Given the description of an element on the screen output the (x, y) to click on. 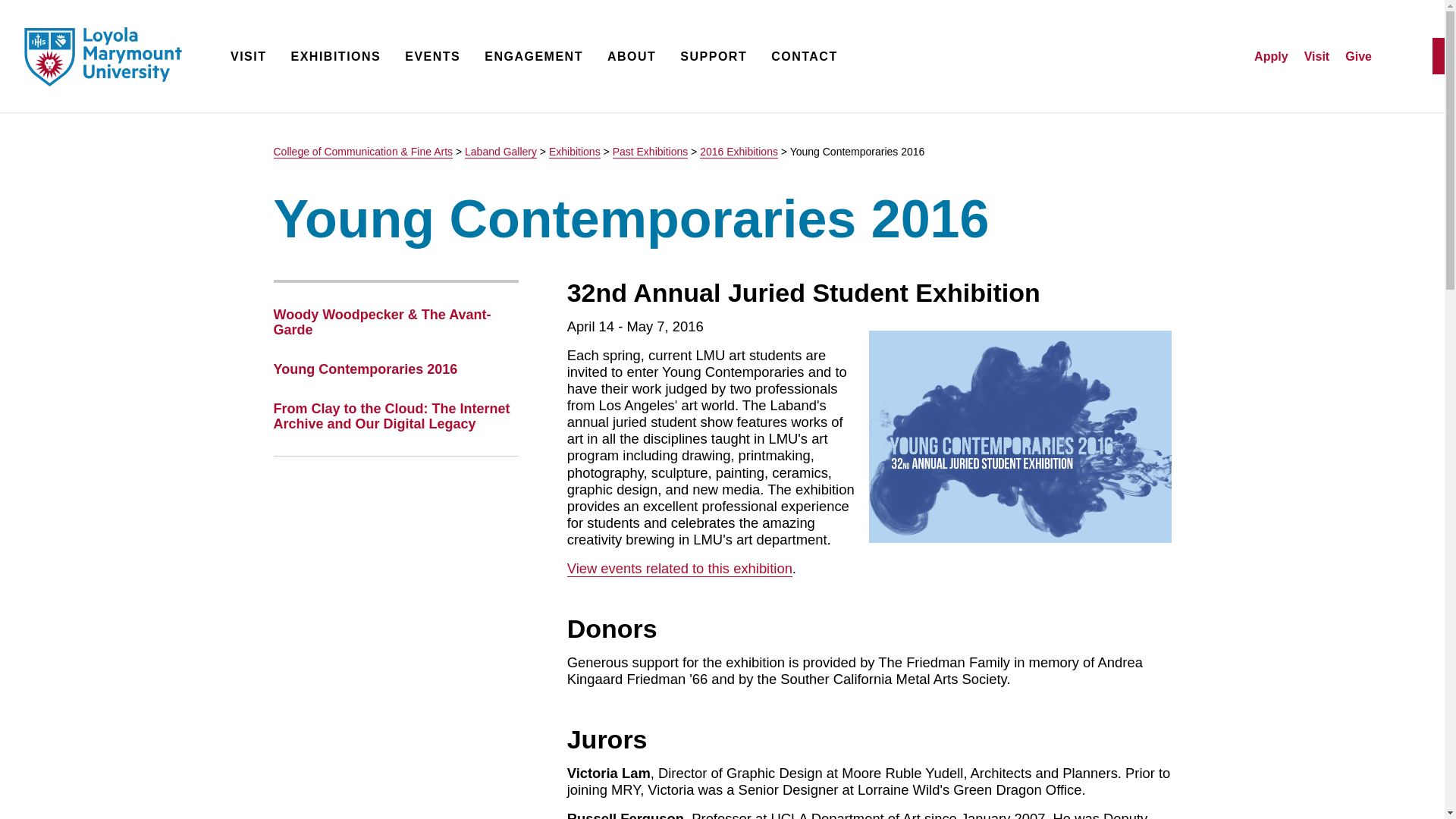
EVENTS (432, 57)
ENGAGEMENT (533, 57)
LMU (103, 57)
Visit (1317, 56)
Give (1358, 56)
VISIT (248, 57)
EXHIBITIONS (336, 57)
ABOUT (631, 57)
SUPPORT (712, 57)
Apply (1270, 56)
CONTACT (804, 57)
